Given the description of an element on the screen output the (x, y) to click on. 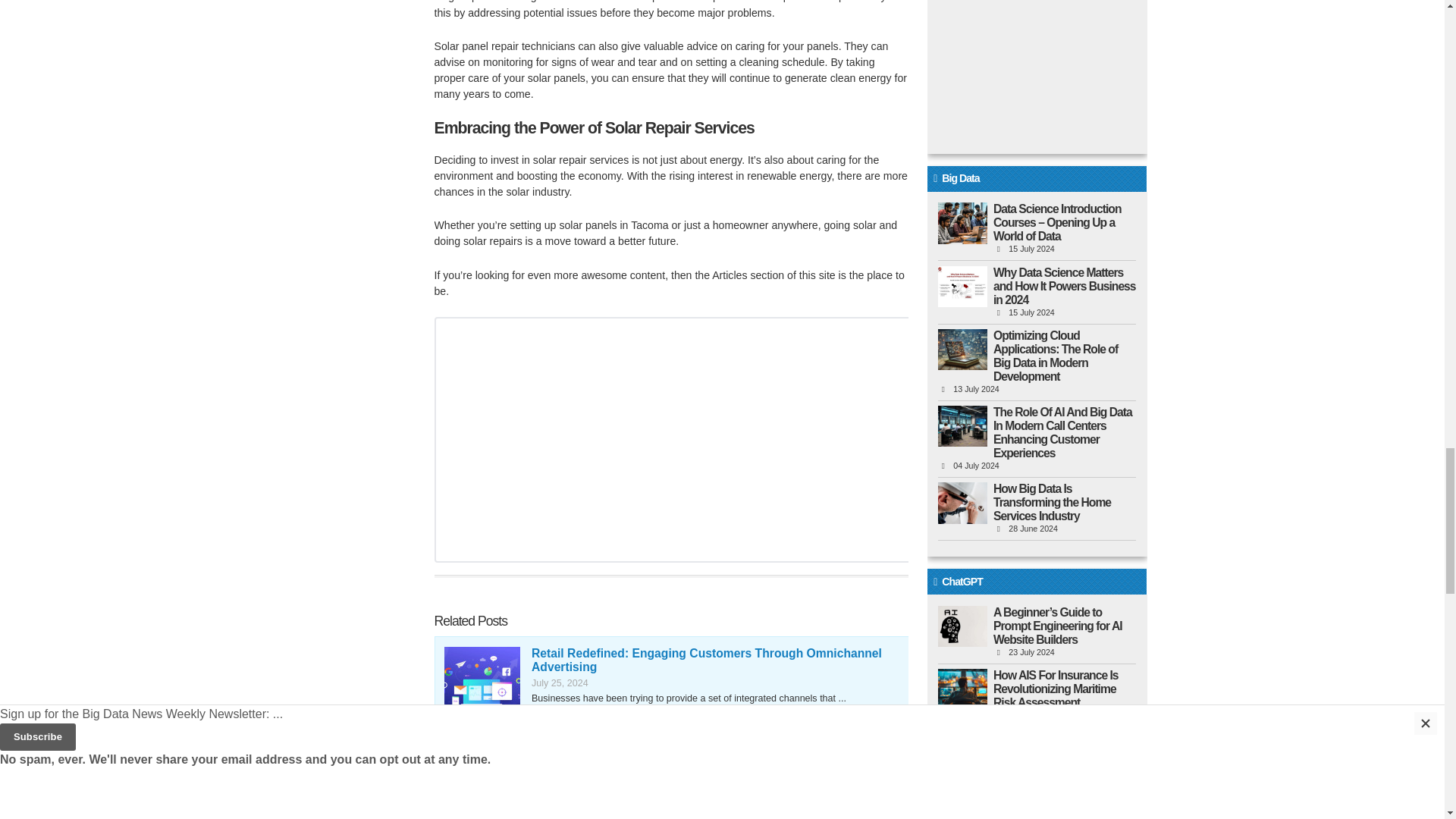
Top Tips on Training Your Employees Faster (656, 746)
Top Tips on Training Your Employees Faster (481, 774)
